Given the description of an element on the screen output the (x, y) to click on. 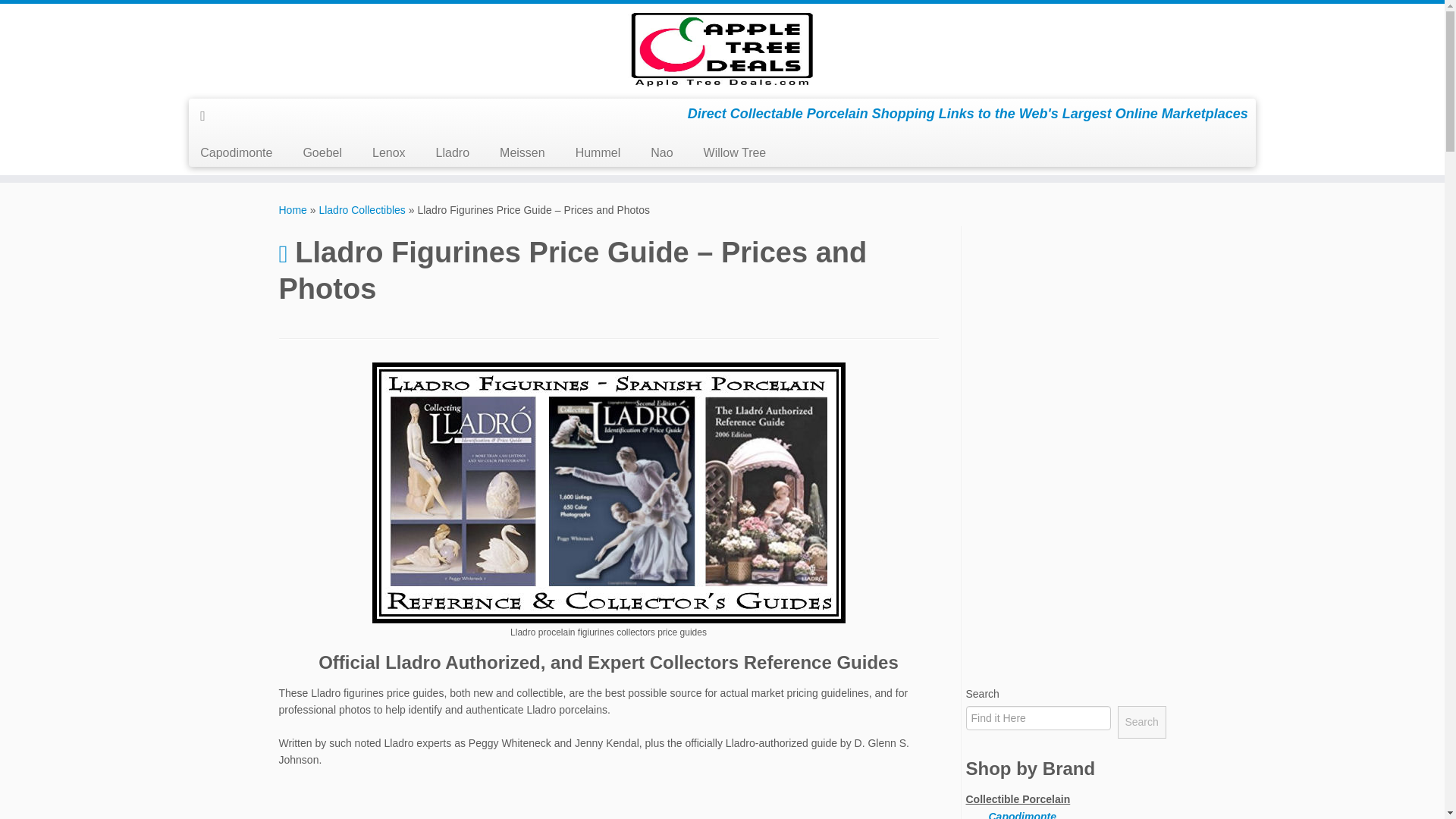
Subscribe to my rss feed (207, 115)
Meissen (522, 153)
Nao (660, 153)
Goebel (321, 153)
Lenox (388, 153)
Lladro (452, 153)
Hummel (598, 153)
Lladro Collectibles (361, 209)
Home (293, 209)
Lladro Collectibles (361, 209)
